Given the description of an element on the screen output the (x, y) to click on. 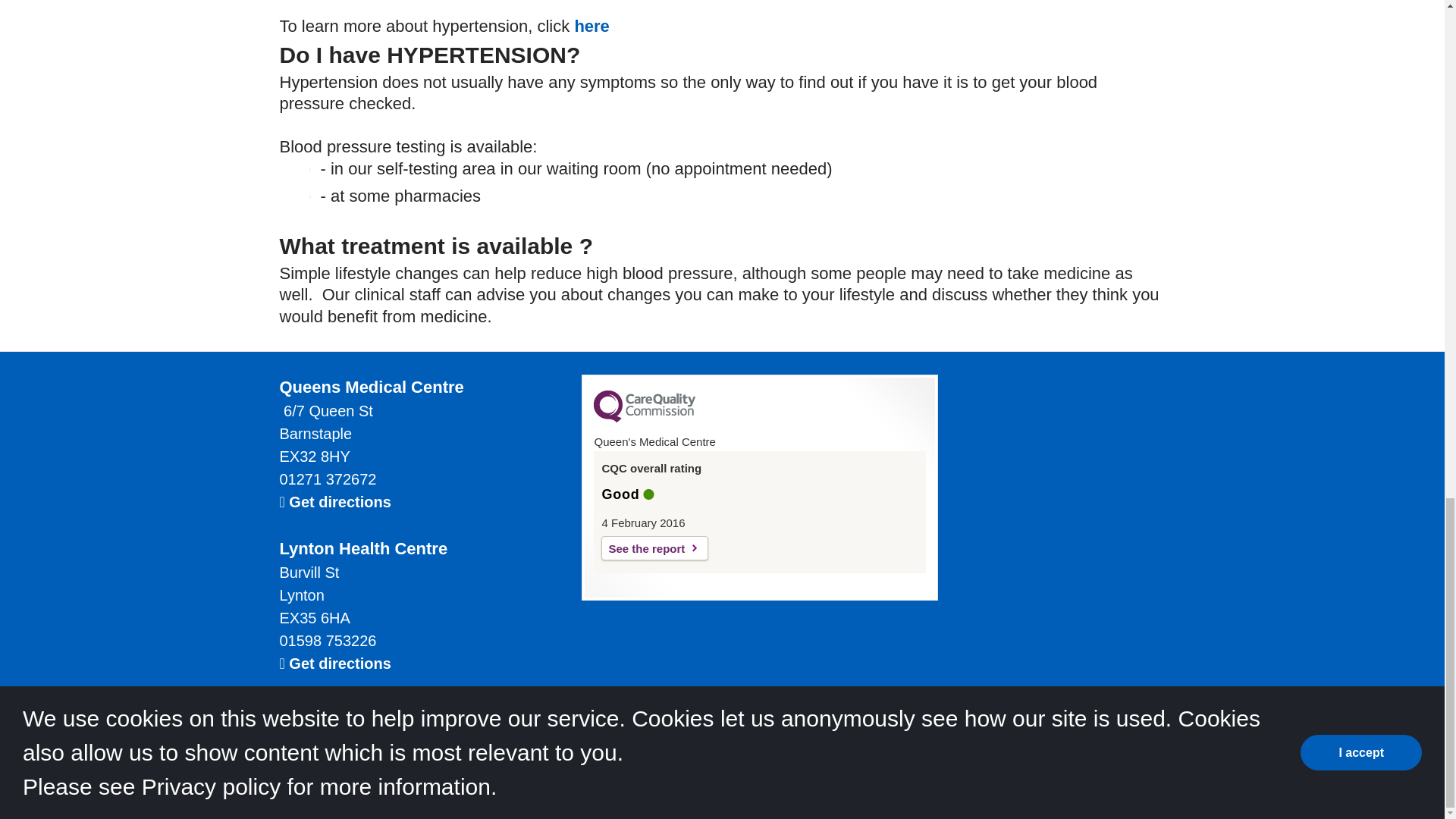
here (590, 26)
